Given the description of an element on the screen output the (x, y) to click on. 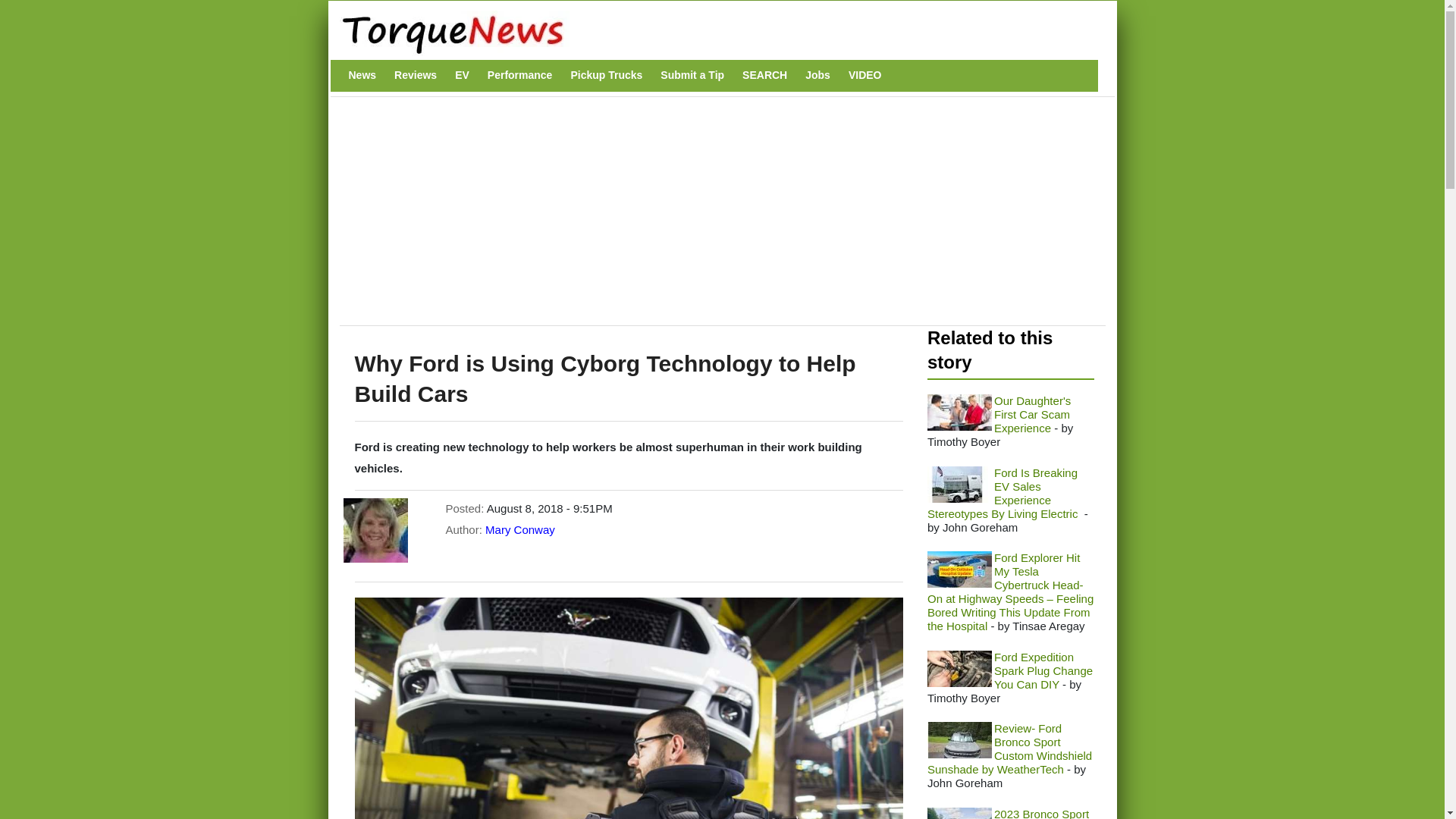
Learn DIY Repairs on Your Ford Truck (959, 668)
Image of Seth Orlick at Hillsboro Ford (959, 484)
VIDEO (865, 75)
Performance (520, 75)
Car Loan Financing Scam Revealed (959, 411)
News (362, 75)
SEARCH (764, 75)
News (362, 75)
Mary Conway (519, 529)
View user profile. (519, 529)
Images of WeatherTech shade by John Goreham (959, 739)
Home (713, 32)
Submit a Tip (691, 75)
Jobs (817, 75)
